Given the description of an element on the screen output the (x, y) to click on. 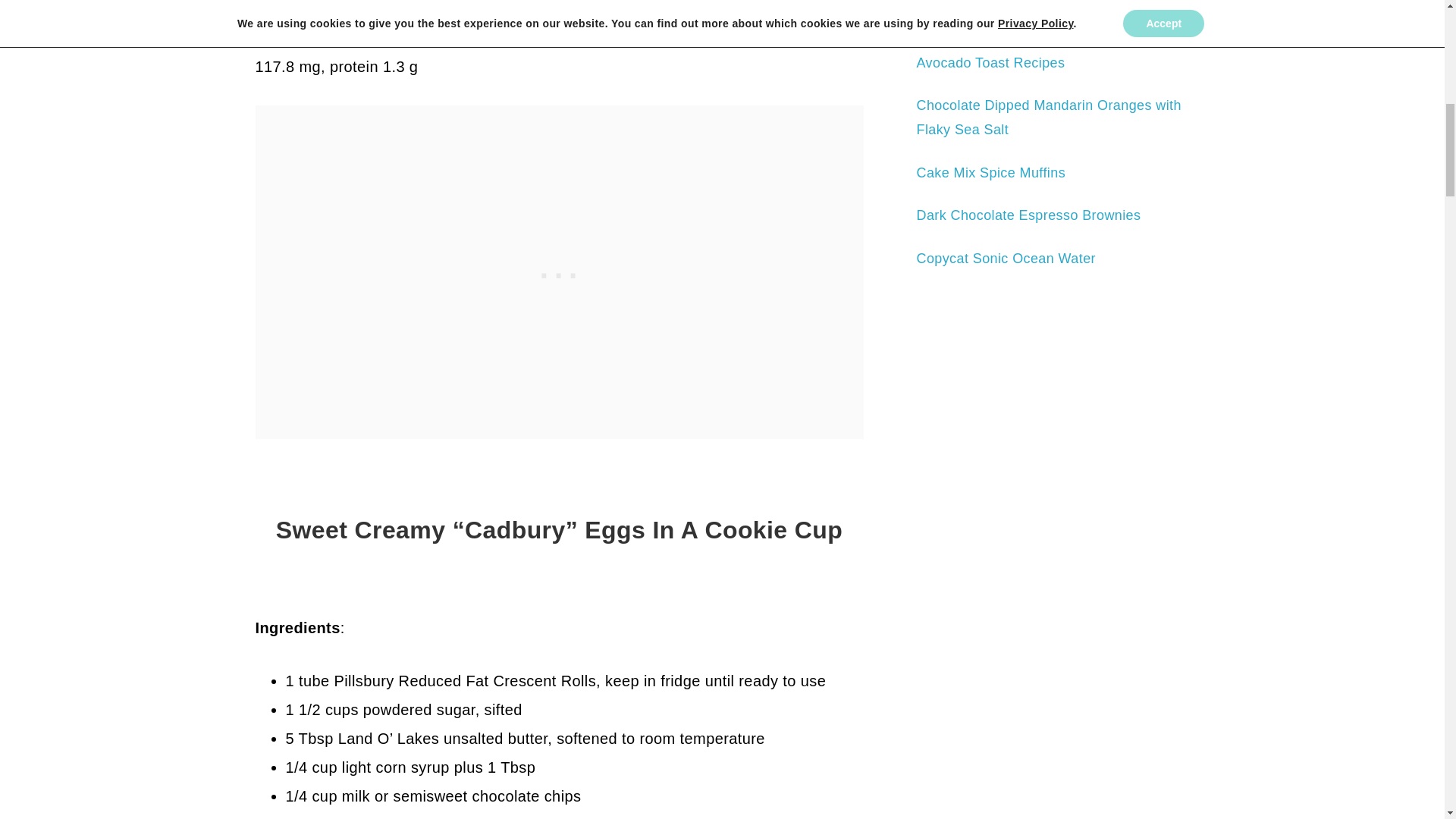
My FoodYub Page (1052, 768)
